Given the description of an element on the screen output the (x, y) to click on. 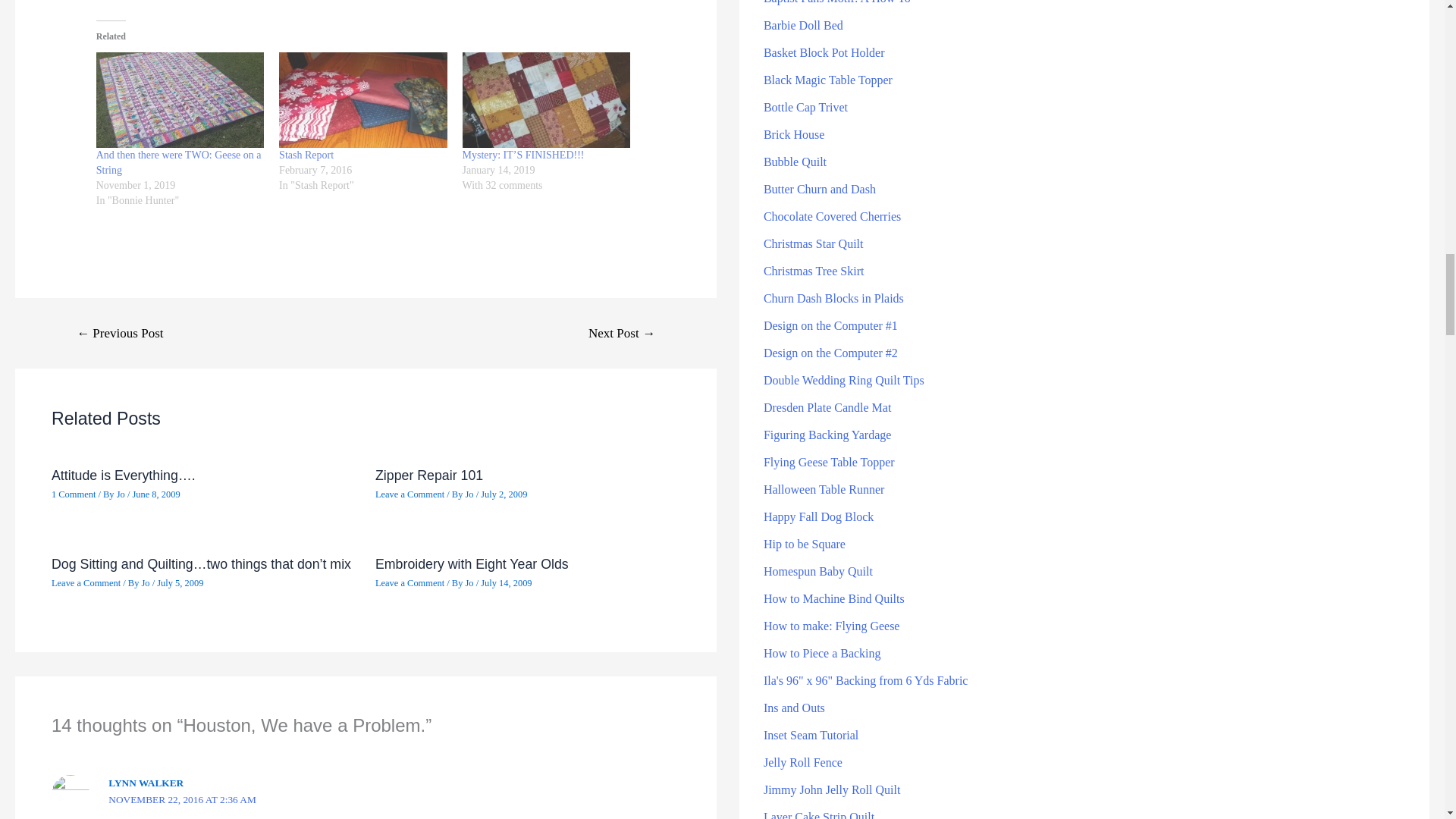
And then there were TWO:  Geese on a String (179, 100)
View all posts by Jo (470, 583)
View all posts by Jo (122, 493)
View all posts by Jo (146, 583)
Stash Report (362, 100)
And then there were TWO:  Geese on a String (179, 162)
View all posts by Jo (470, 493)
Stash Report (306, 154)
